Given the description of an element on the screen output the (x, y) to click on. 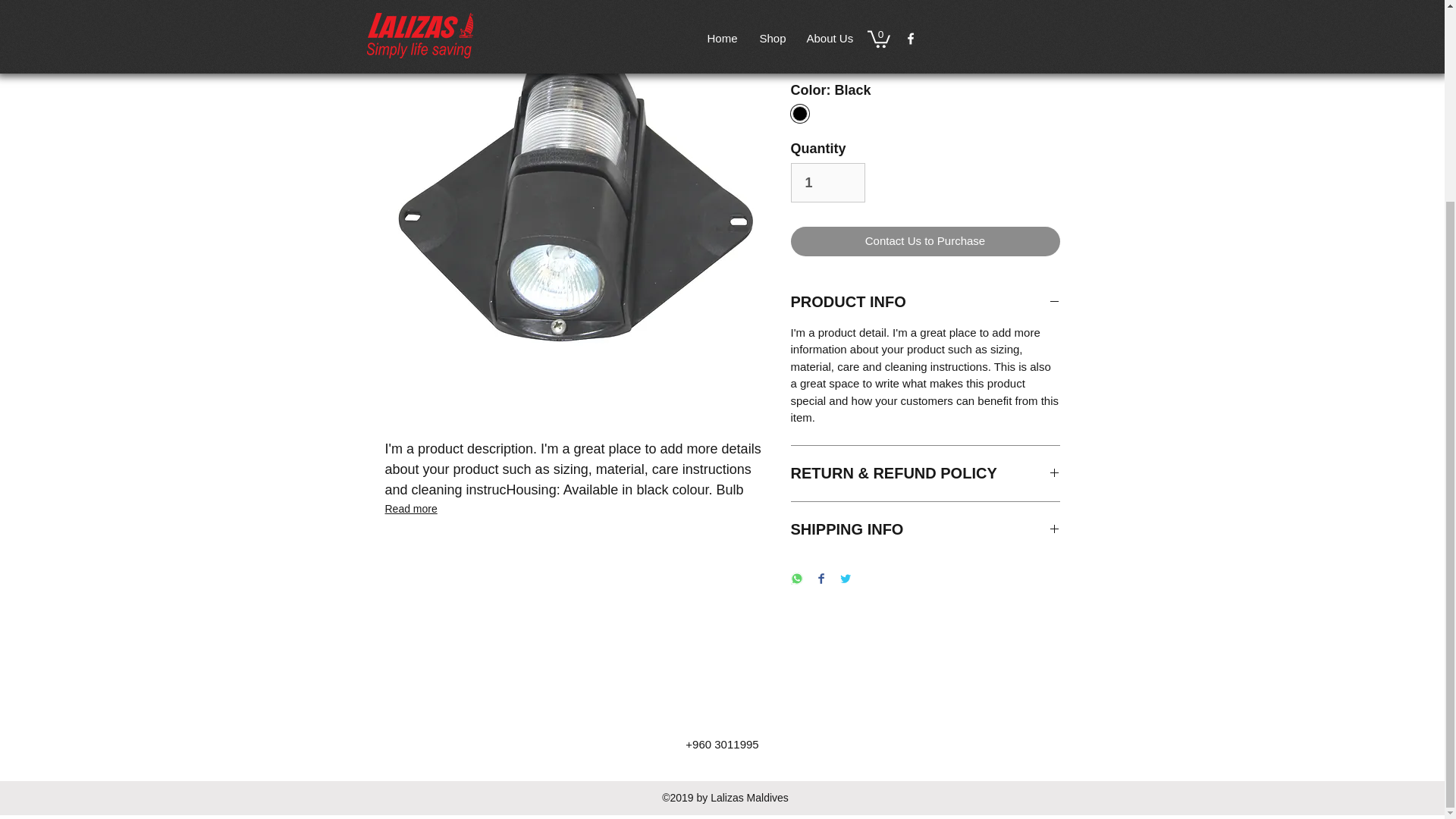
1 (827, 182)
SHIPPING INFO (924, 529)
PRODUCT INFO (924, 302)
Read more (574, 508)
Contact Us to Purchase (924, 241)
